Given the description of an element on the screen output the (x, y) to click on. 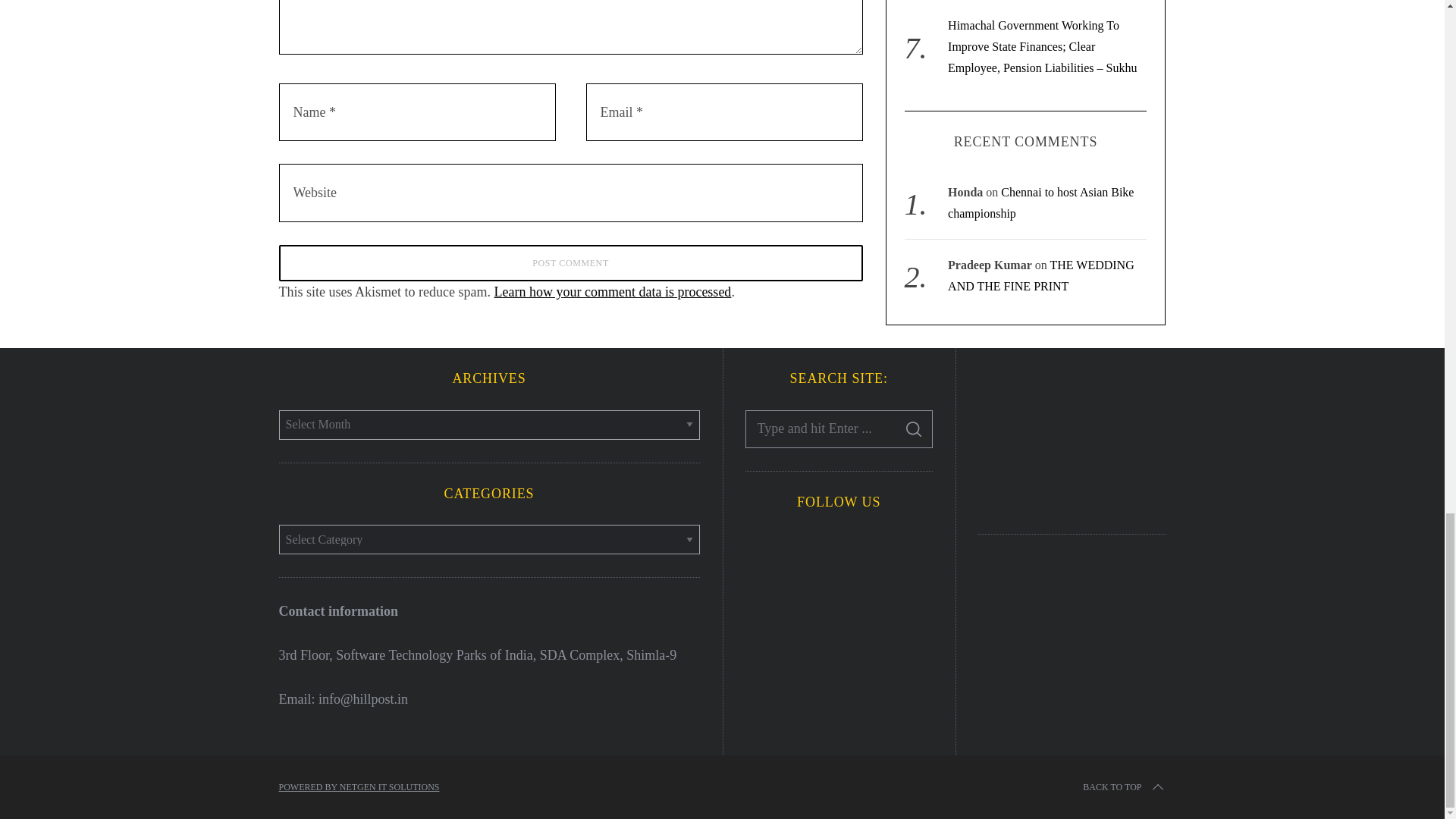
Post Comment (571, 262)
Learn how your comment data is processed (611, 291)
Post Comment (571, 262)
PepupHome Best Home improvement blog 2020 (1072, 438)
Chennai to host Asian Bike championship (1040, 140)
THE WEDDING AND THE FINE PRINT (1040, 213)
